Given the description of an element on the screen output the (x, y) to click on. 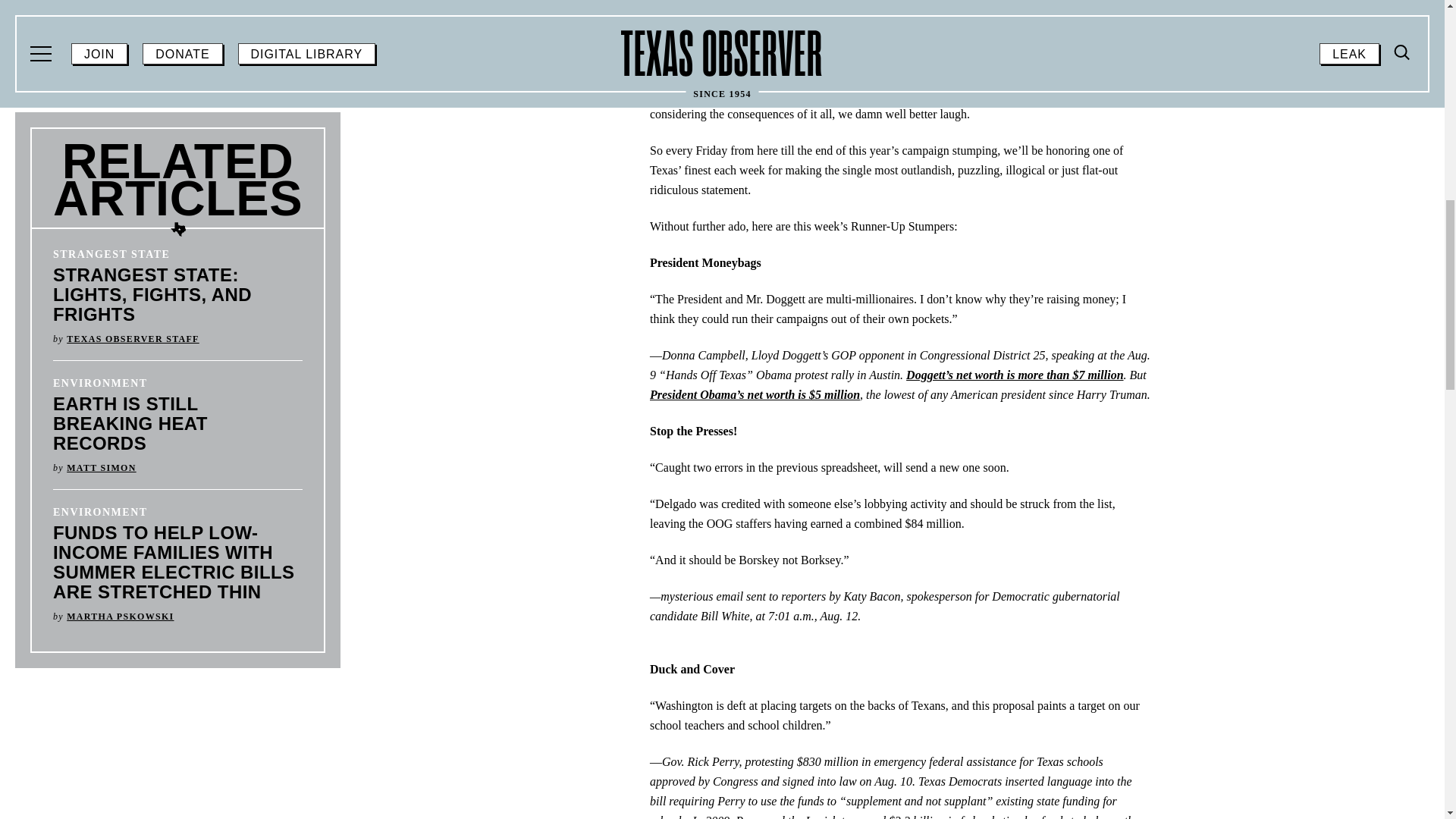
Post by Matt Simon (100, 467)
Post by Texas Observer Staff (132, 338)
Post by Martha Pskowski (119, 615)
